Given the description of an element on the screen output the (x, y) to click on. 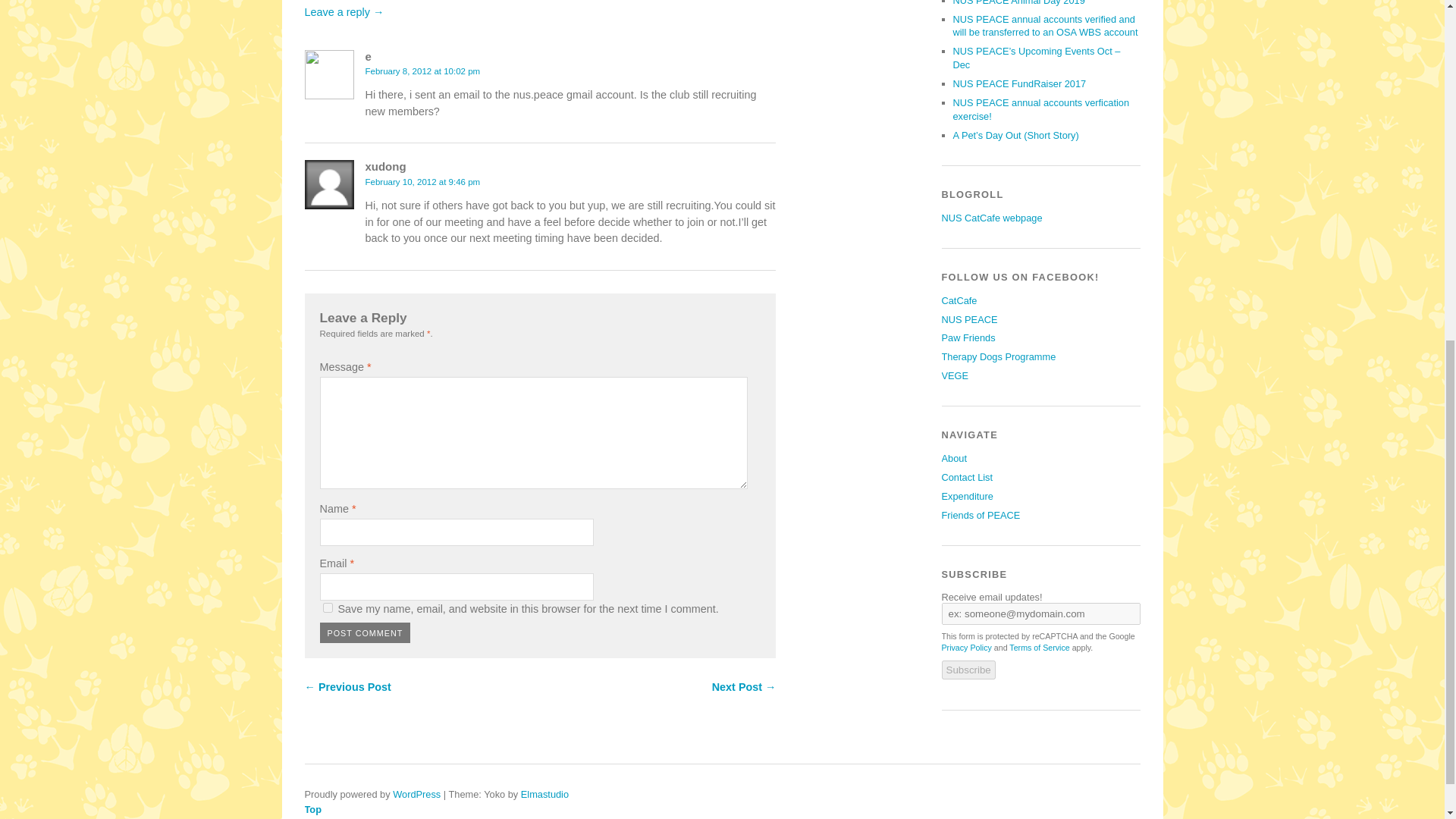
February 10, 2012 at 9:46 pm (422, 181)
Privacy Policy (966, 646)
About (954, 458)
Expenditure (967, 496)
Terms of Service (1038, 646)
NUS PEACE annual accounts verfication exercise! (1040, 109)
Post Comment (365, 632)
Subscribe (968, 669)
Contact List (967, 477)
